Given the description of an element on the screen output the (x, y) to click on. 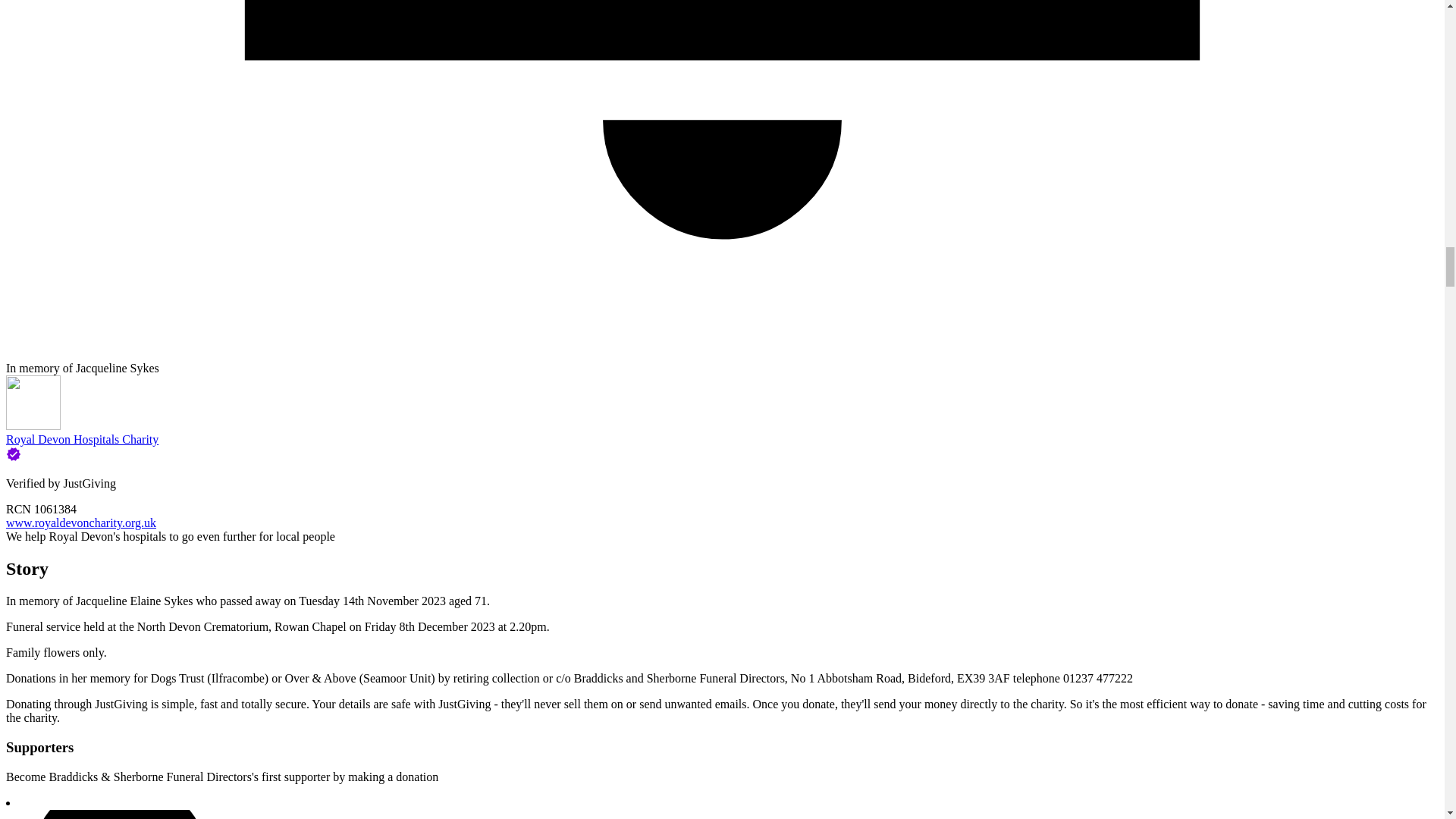
JG (118, 814)
www.royaldevoncharity.org.uk (80, 522)
Royal Devon Hospitals Charity (81, 439)
